Given the description of an element on the screen output the (x, y) to click on. 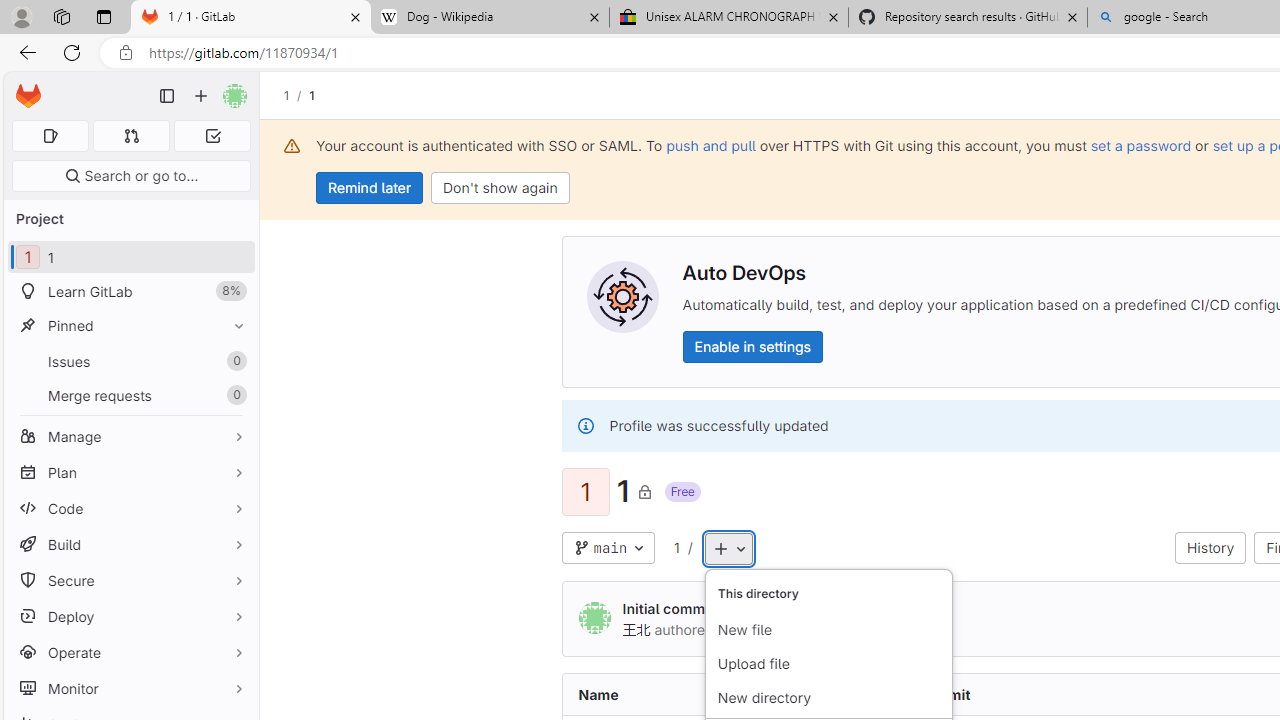
1 1 (130, 257)
Merge requests 0 (130, 394)
Pinned (130, 325)
push and pull (710, 145)
Deploy (130, 615)
Remind later (369, 187)
Skip to main content (23, 87)
Issues 0 (130, 361)
1 (676, 547)
Operate (130, 651)
